Given the description of an element on the screen output the (x, y) to click on. 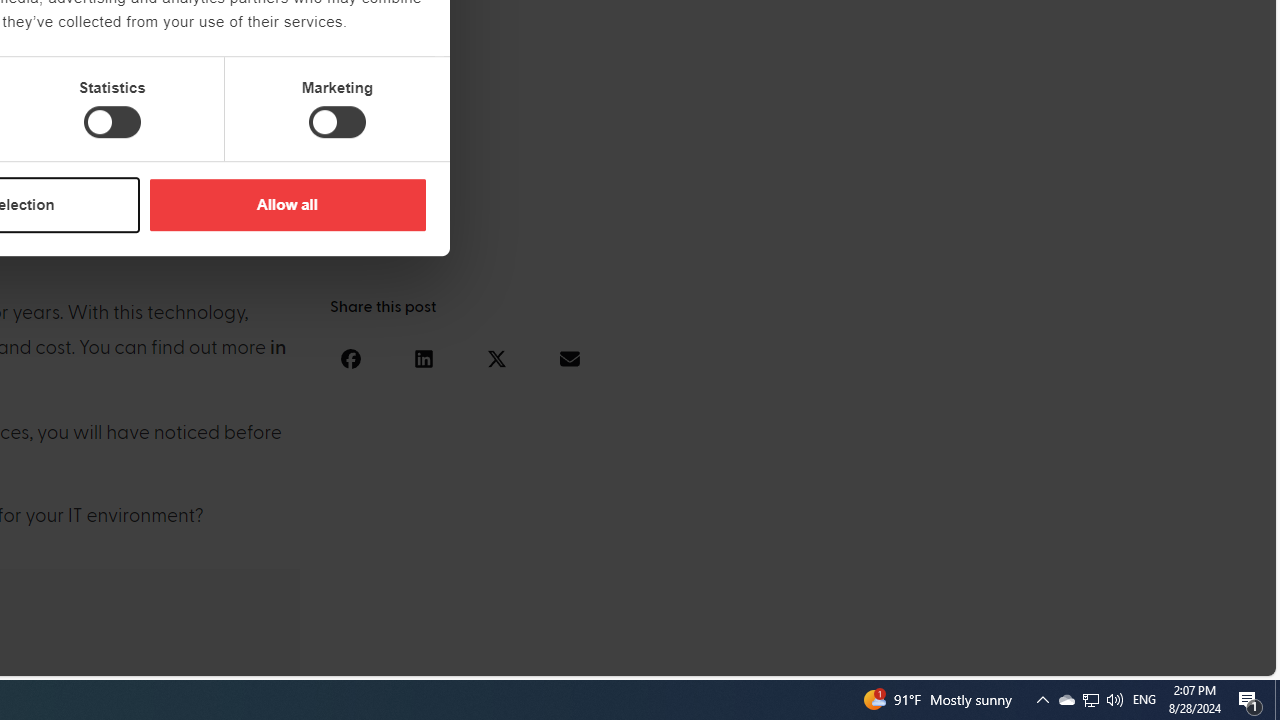
Language switcher : Klingon (1226, 657)
Allow all (287, 204)
Marketing (337, 121)
Share on x-twitter (496, 358)
Language switcher : Slovak (1085, 657)
Language switcher : Portuguese (1185, 657)
Language switcher : Norwegian (985, 657)
Language switcher : Slovenian (1066, 657)
Share on facebook (350, 358)
Share on linkedin (423, 358)
Language switcher : Italian (945, 657)
Language switcher : Spanish (925, 657)
Statistics (111, 121)
Language switcher : Dutch (965, 657)
Share on email (569, 358)
